Given the description of an element on the screen output the (x, y) to click on. 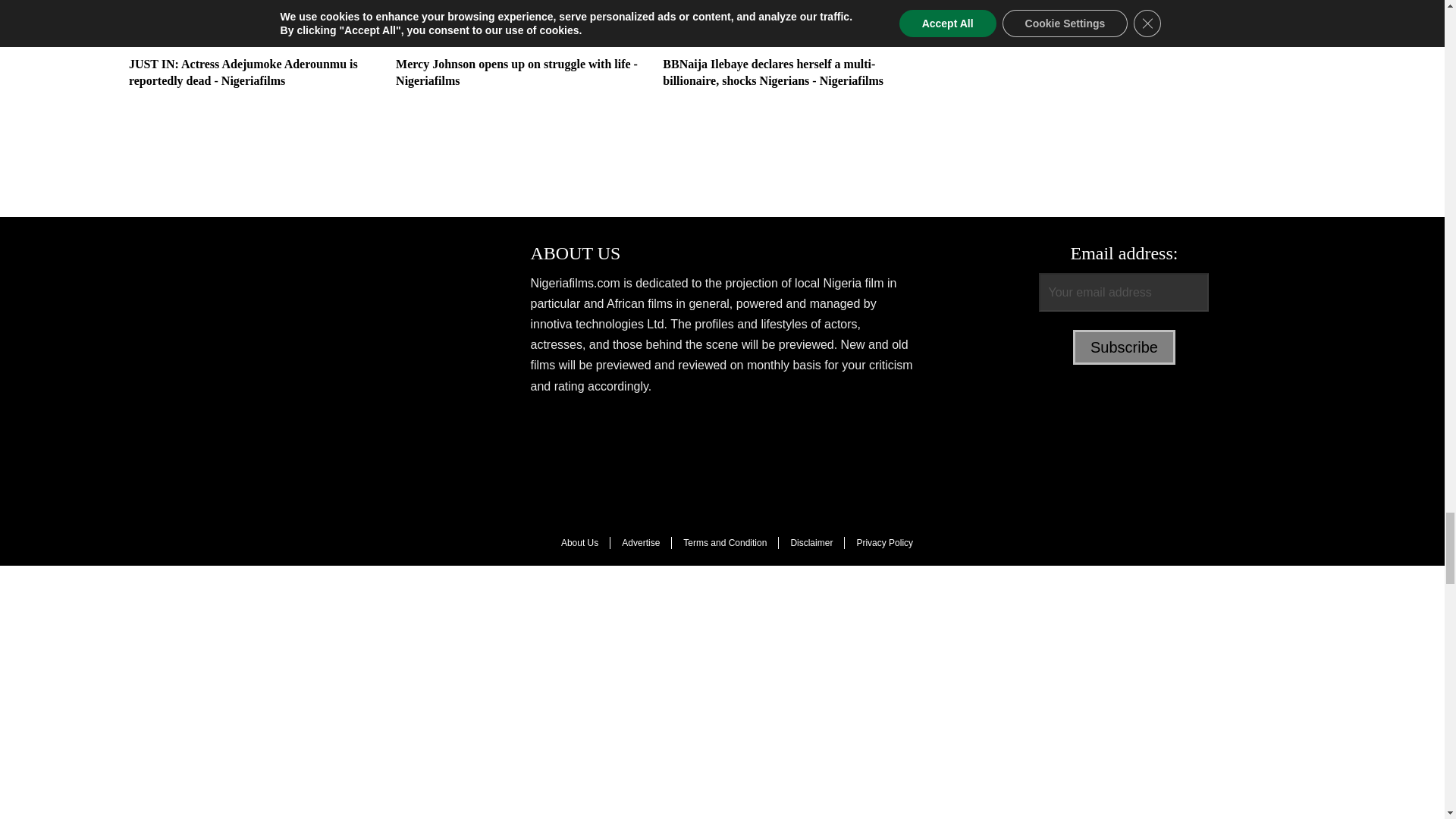
Subscribe (1123, 347)
